Given the description of an element on the screen output the (x, y) to click on. 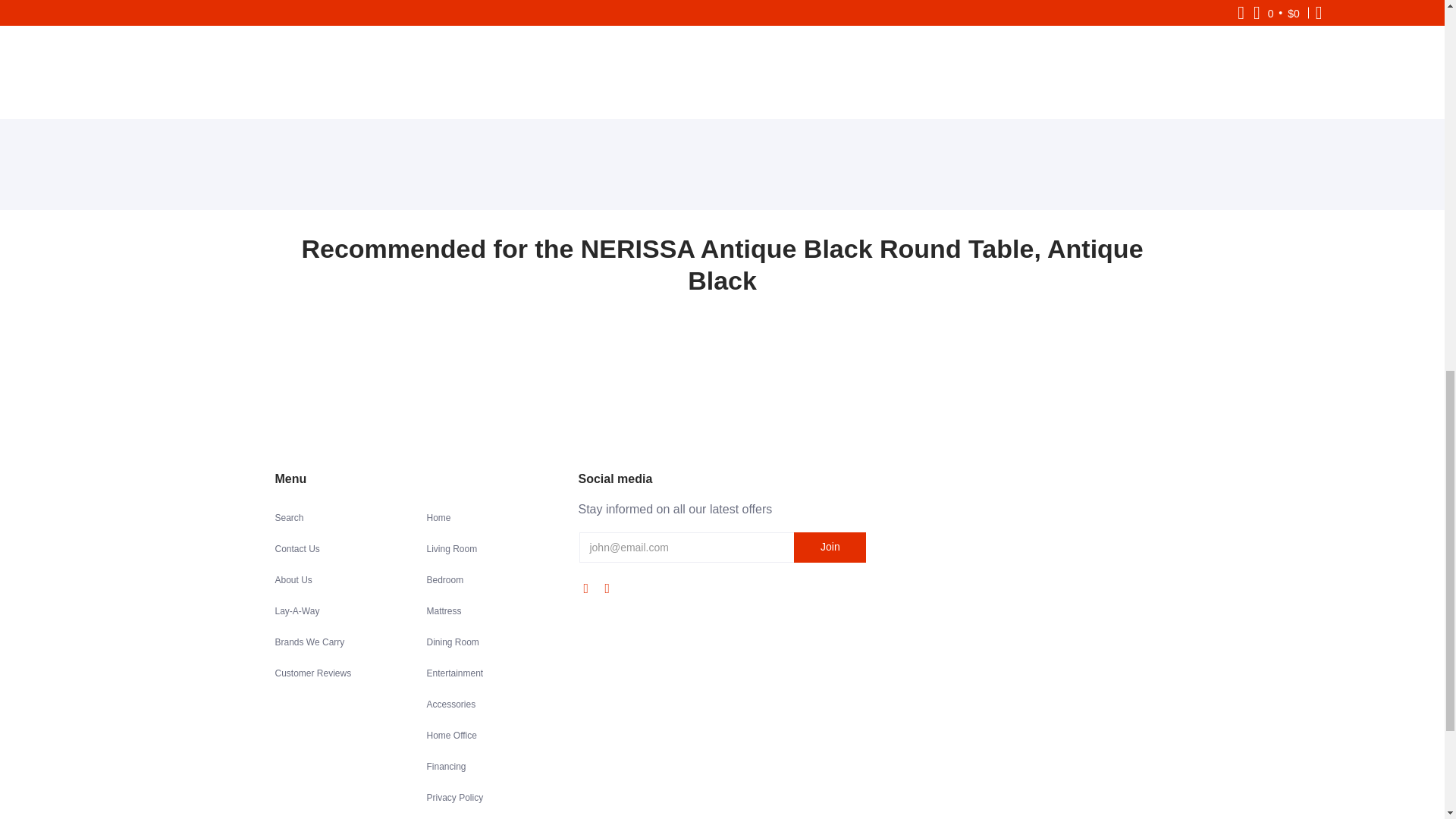
Join (829, 547)
